Given the description of an element on the screen output the (x, y) to click on. 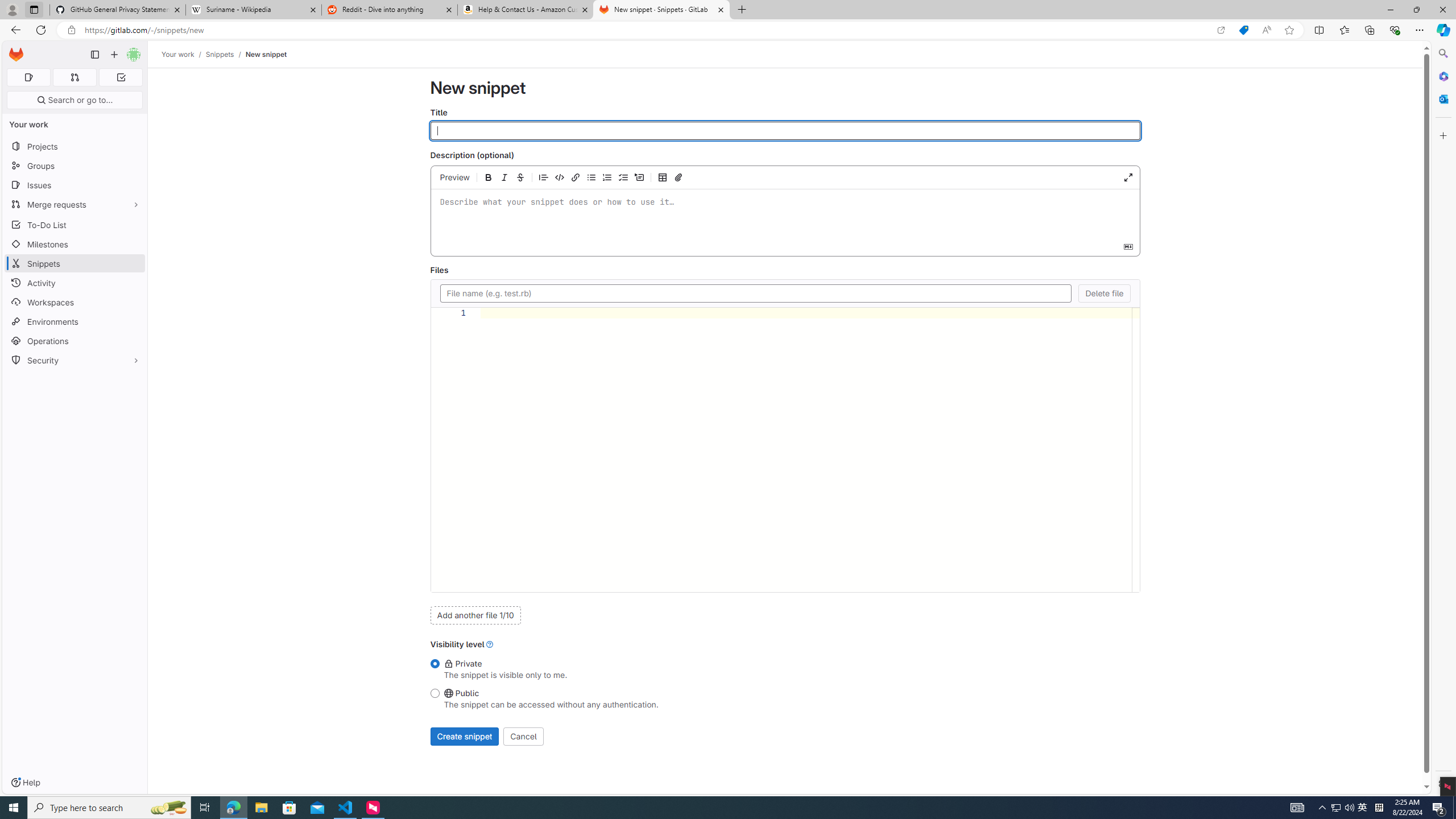
Assigned issues 0 (28, 76)
Snippets/ (225, 53)
Add another file 1/10 (475, 615)
Go full screen (1128, 177)
Issues (74, 185)
To-Do List (74, 224)
Operations (74, 340)
Activity (74, 282)
Your work (178, 53)
New snippet (265, 53)
Projects (74, 145)
Add a bullet list (591, 177)
